Given the description of an element on the screen output the (x, y) to click on. 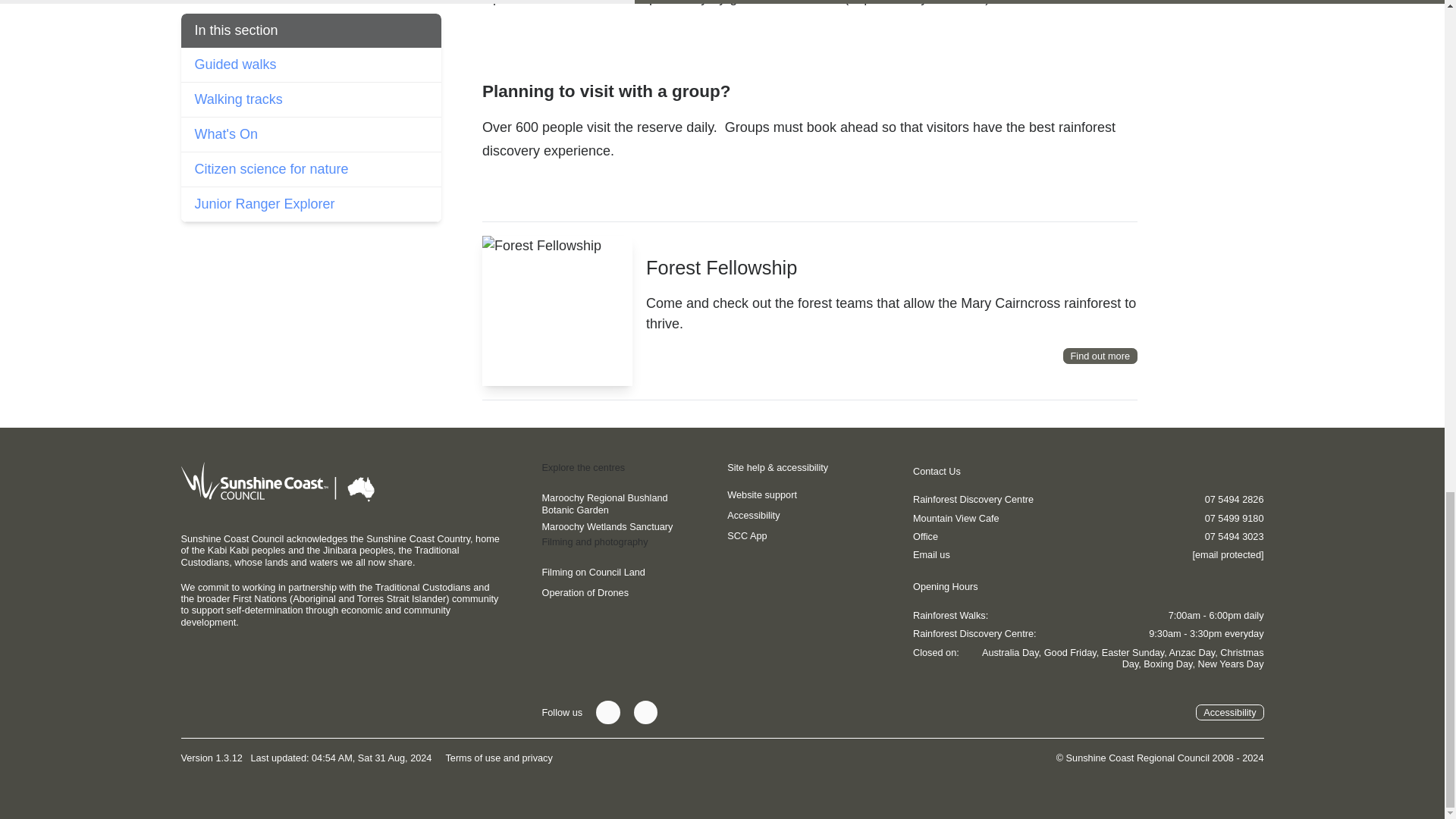
Maroochy Regional Bushland Botanic Garden (623, 503)
Forest Fellowship (1099, 356)
07 5494 3023 (1230, 536)
Accessibility (756, 514)
Maroochy Wetlands Sanctuary (606, 526)
Accessibility (1229, 712)
07 5499 9180 (1230, 518)
SCC App (749, 535)
Maroochy Regional Bushland Botanic Garden (623, 503)
Website support (764, 494)
